Given the description of an element on the screen output the (x, y) to click on. 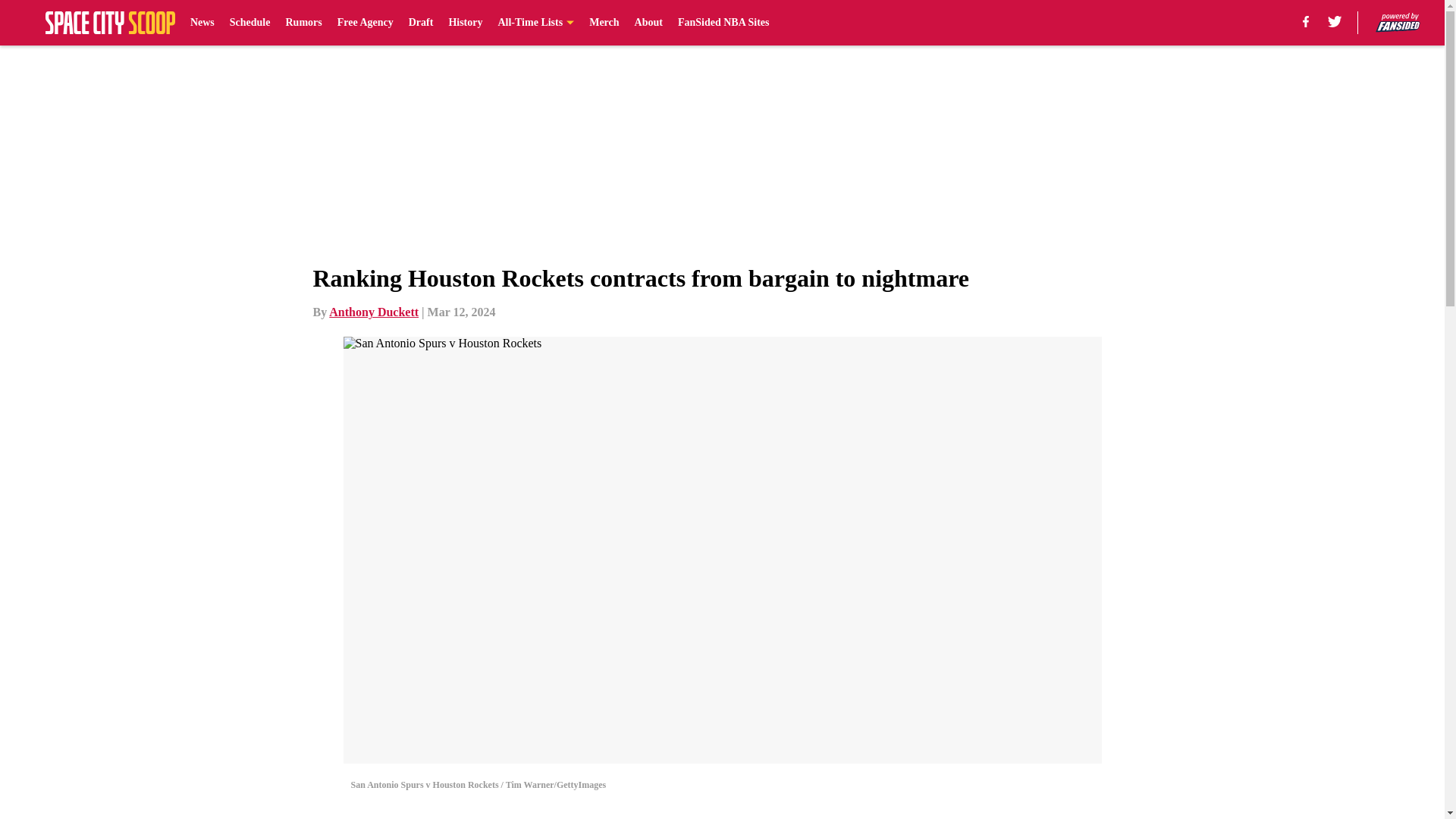
Merch (603, 22)
News (202, 22)
Anthony Duckett (374, 311)
All-Time Lists (535, 22)
About (648, 22)
Schedule (250, 22)
Rumors (303, 22)
History (464, 22)
FanSided NBA Sites (724, 22)
